Given the description of an element on the screen output the (x, y) to click on. 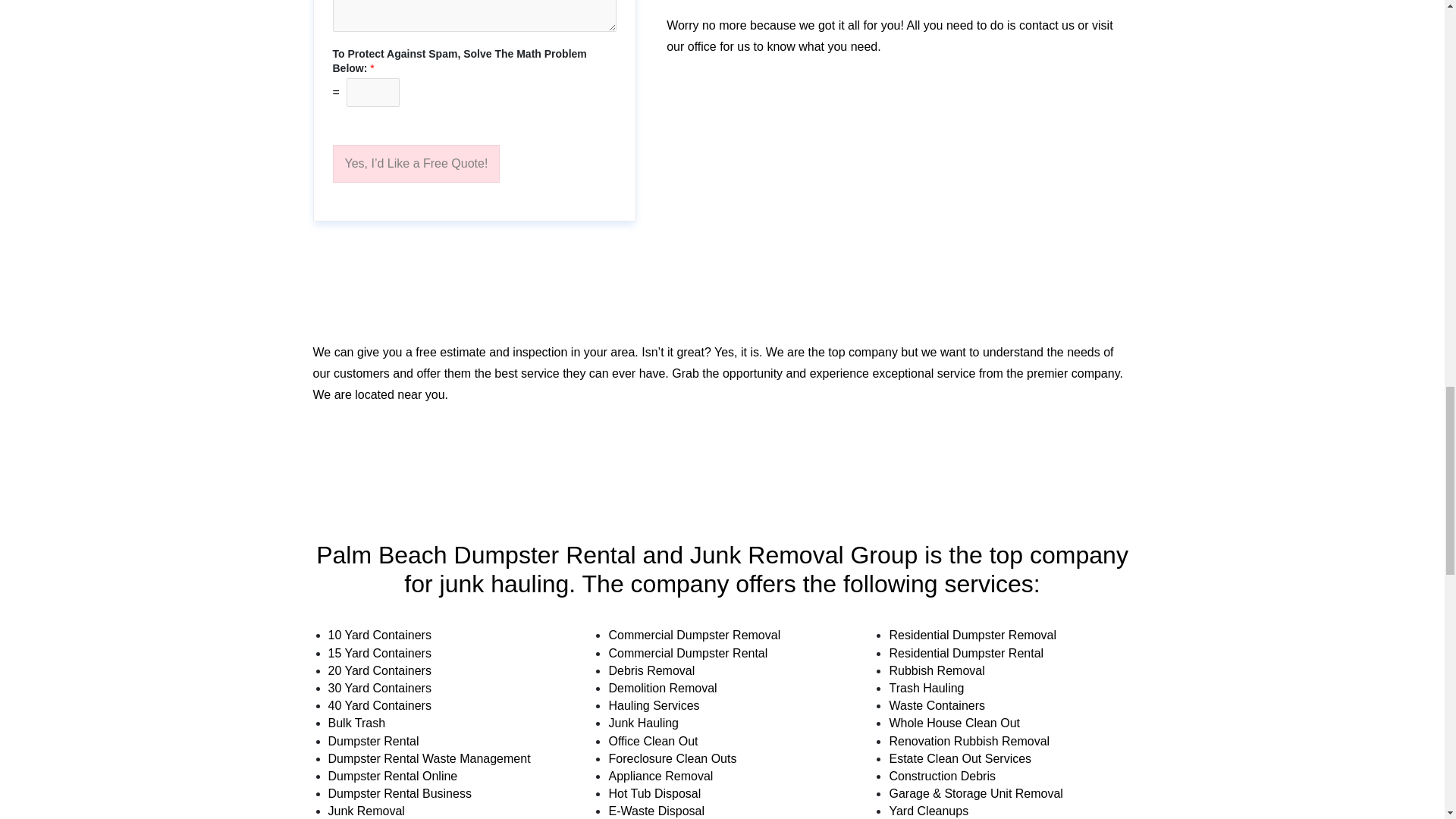
Dumpster Rental (373, 739)
15 Yard Containers (378, 653)
20 Yard Containers (378, 670)
Dumpster Rental Business (398, 793)
Dumpster Rental Online (392, 775)
Junk Removal (365, 810)
30 Yard Containers (378, 687)
Bulk Trash (356, 722)
Dumpster Rental Waste Management (428, 758)
40 Yard Containers (378, 705)
